Given the description of an element on the screen output the (x, y) to click on. 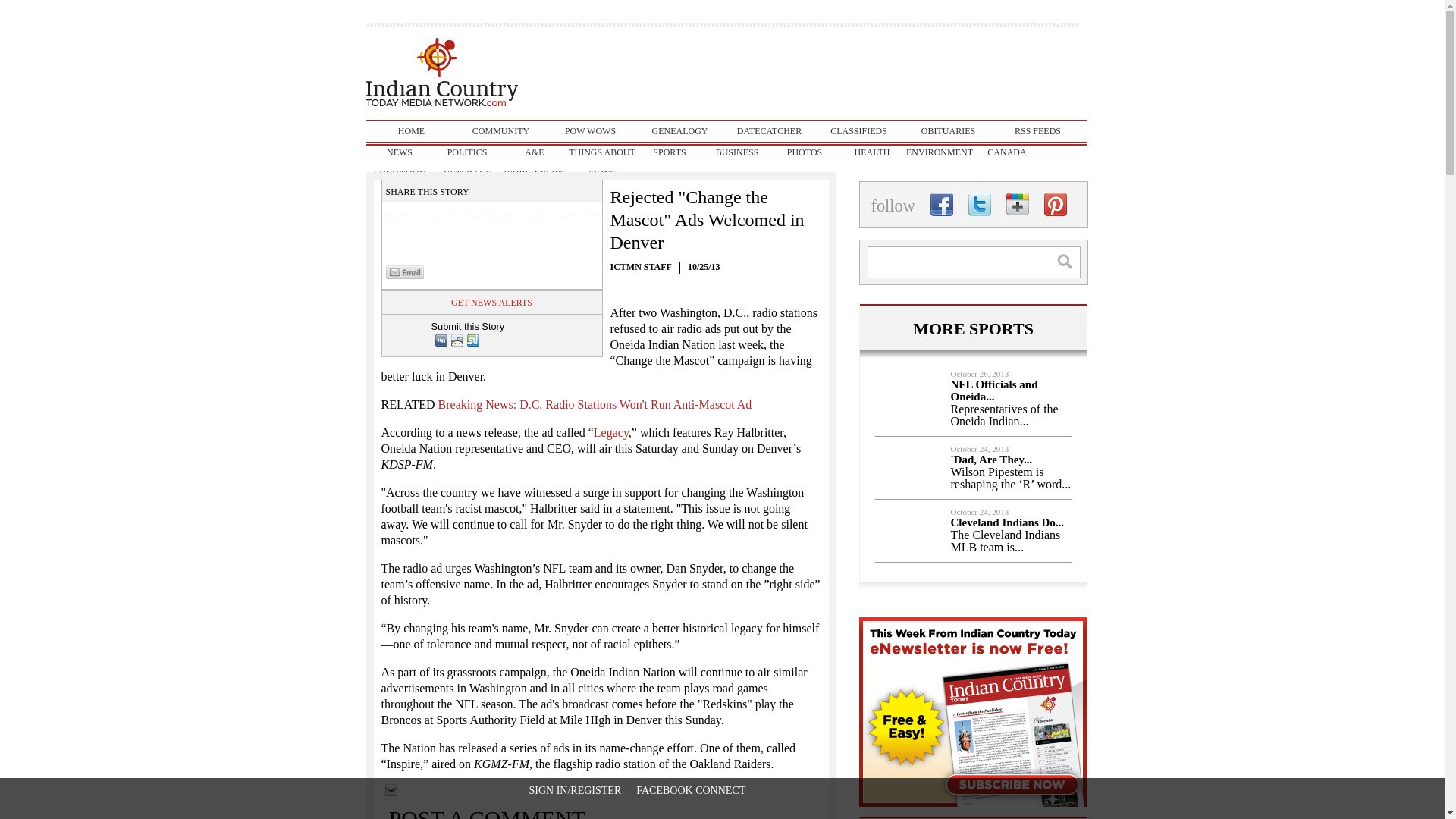
ENVIRONMENT (938, 151)
HEALTH (871, 151)
PHOTOS (804, 151)
NEWS (398, 151)
EDUCATION (398, 173)
Enter the terms you wish to search for. (973, 262)
SPORTS (668, 151)
POW WOWS (589, 130)
GENEALOGY (679, 130)
VETERANS (466, 173)
Login Using Facebok (690, 790)
DATECATCHER (768, 130)
WORLD NEWS (533, 173)
Search (1072, 261)
